Given the description of an element on the screen output the (x, y) to click on. 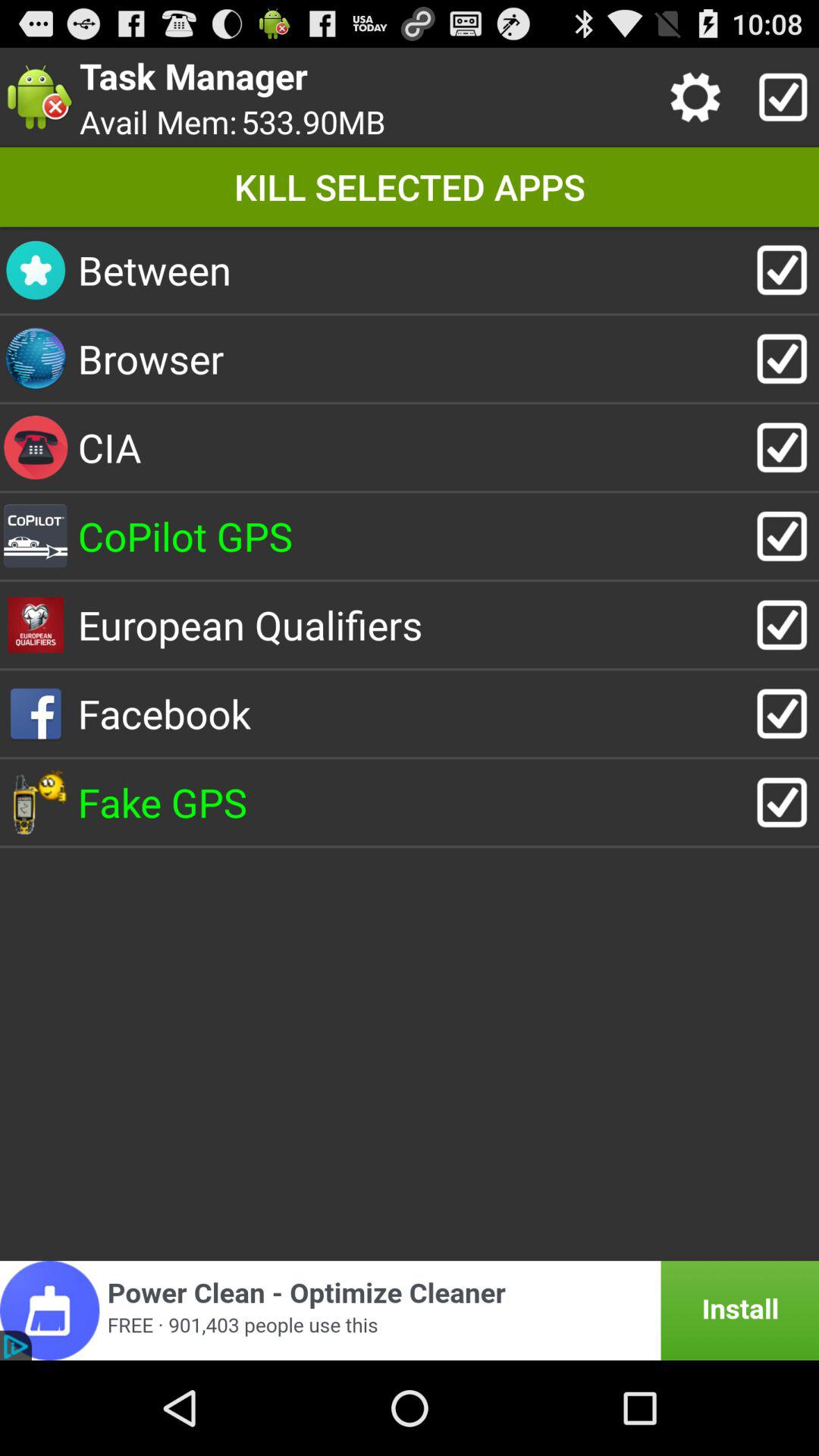
mark all (779, 97)
